Given the description of an element on the screen output the (x, y) to click on. 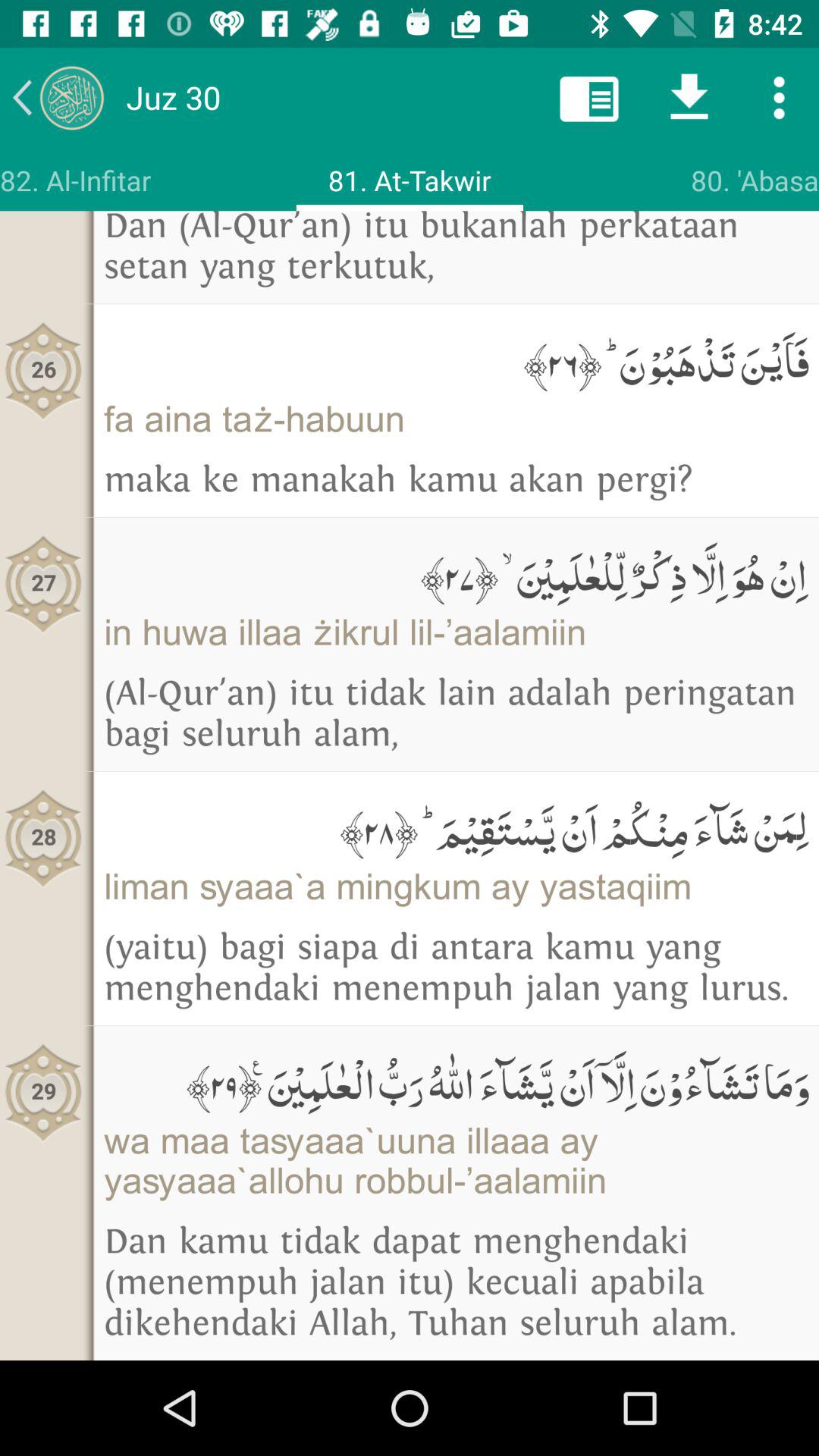
press the icon above dan al qur icon (75, 180)
